Given the description of an element on the screen output the (x, y) to click on. 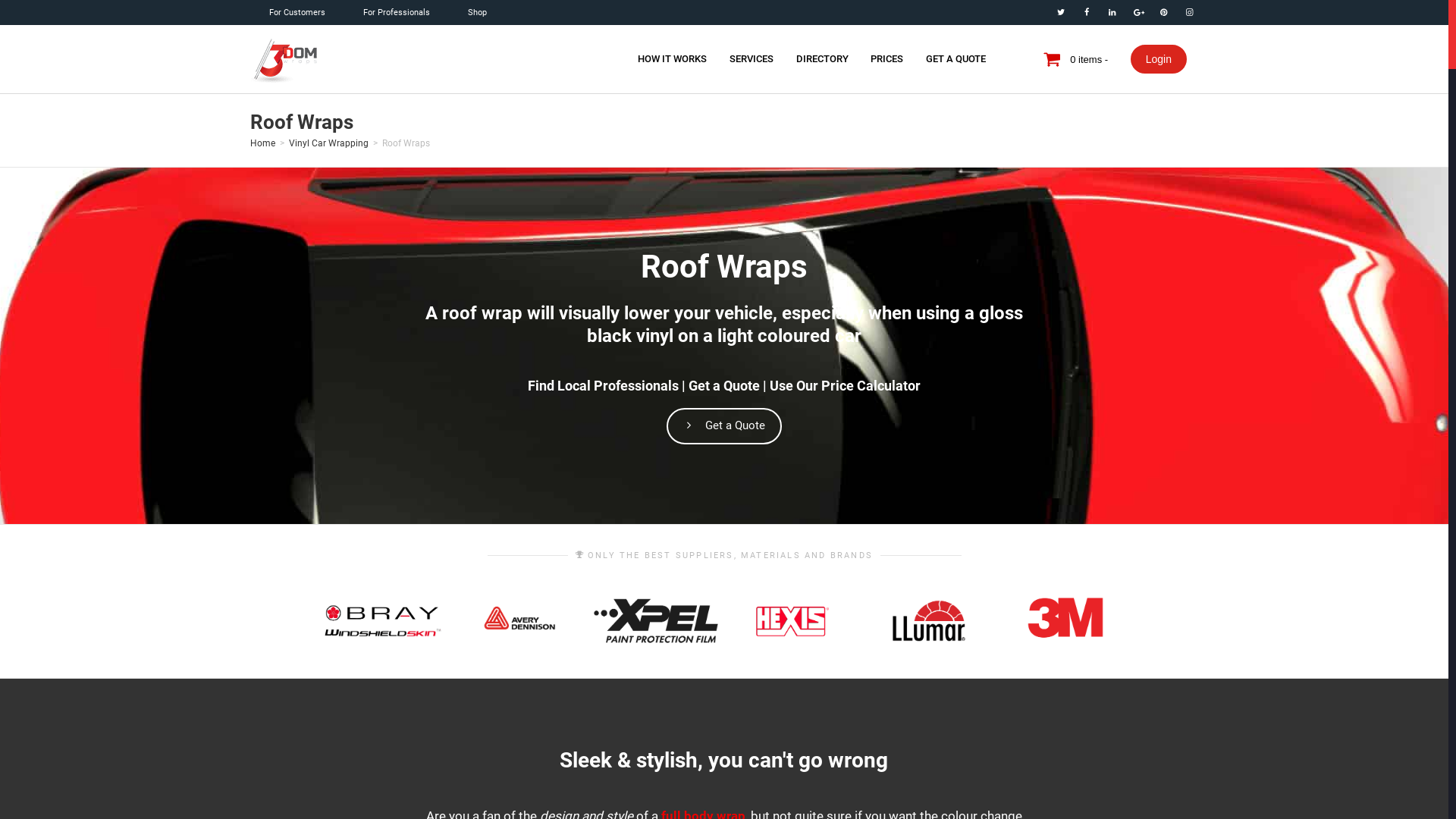
DIRECTORY Element type: text (821, 59)
HOW IT WORKS Element type: text (672, 59)
GET A QUOTE Element type: text (955, 59)
Shop Element type: text (476, 12)
Vinyl Car Wrapping Element type: text (328, 143)
Login Element type: text (1158, 58)
0 items - Element type: text (1091, 56)
Get a Quote Element type: text (723, 425)
For Professionals Element type: text (396, 12)
Home Element type: text (262, 143)
PRICES Element type: text (887, 59)
For Customers Element type: text (297, 12)
SERVICES Element type: text (751, 59)
